Given the description of an element on the screen output the (x, y) to click on. 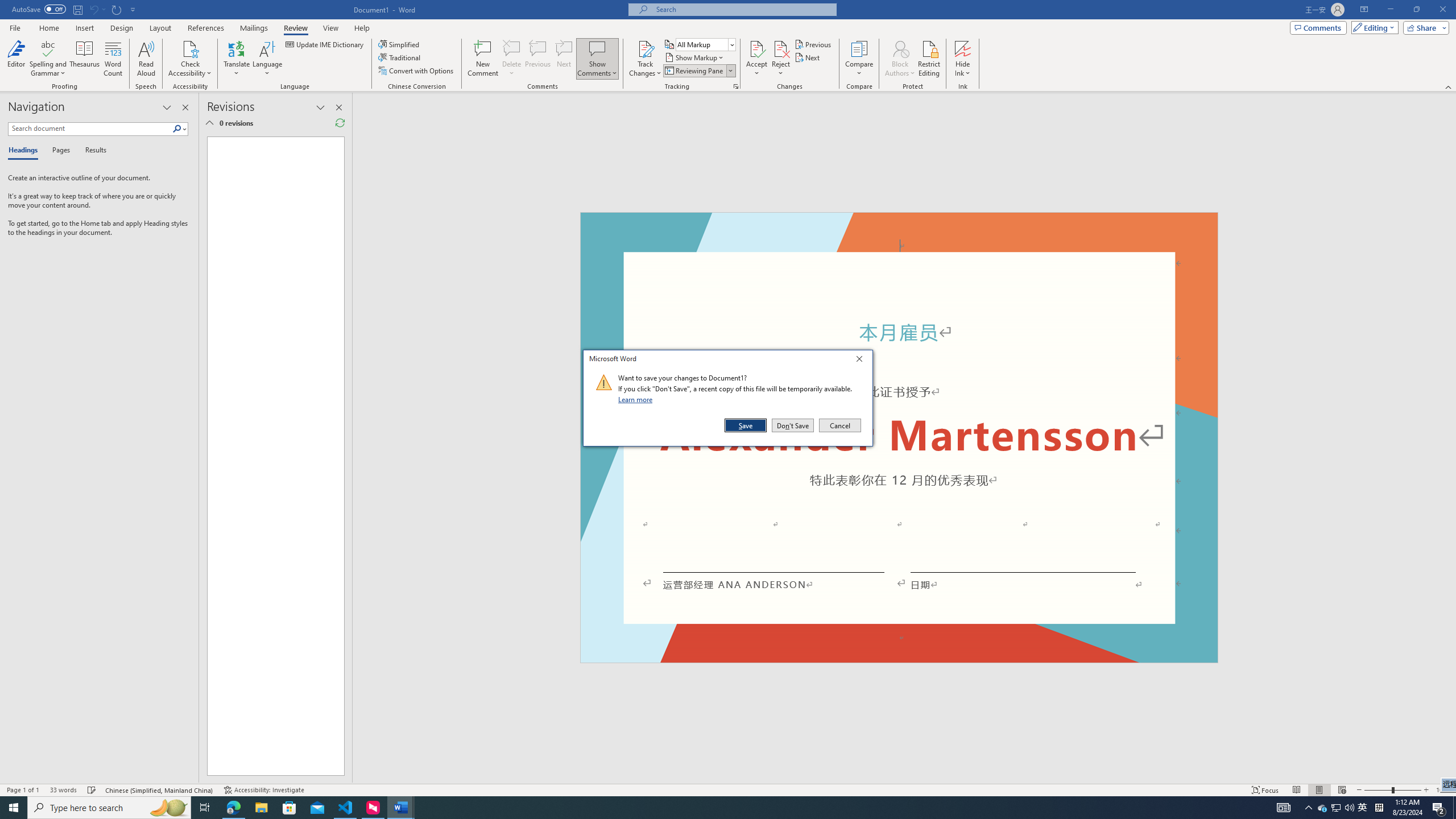
User Promoted Notification Area (1336, 807)
Share (1423, 27)
Zoom In (1426, 790)
Can't Undo (92, 9)
Microsoft Edge - 1 running window (233, 807)
Quick Access Toolbar (74, 9)
Notification Chevron (1308, 807)
Microsoft Store (289, 807)
Block Authors (900, 48)
Headings (25, 150)
Layout (160, 28)
Learn more (636, 399)
Reviewing Pane (694, 69)
Reject and Move to Next (780, 48)
Collapse the Ribbon (1448, 86)
